Given the description of an element on the screen output the (x, y) to click on. 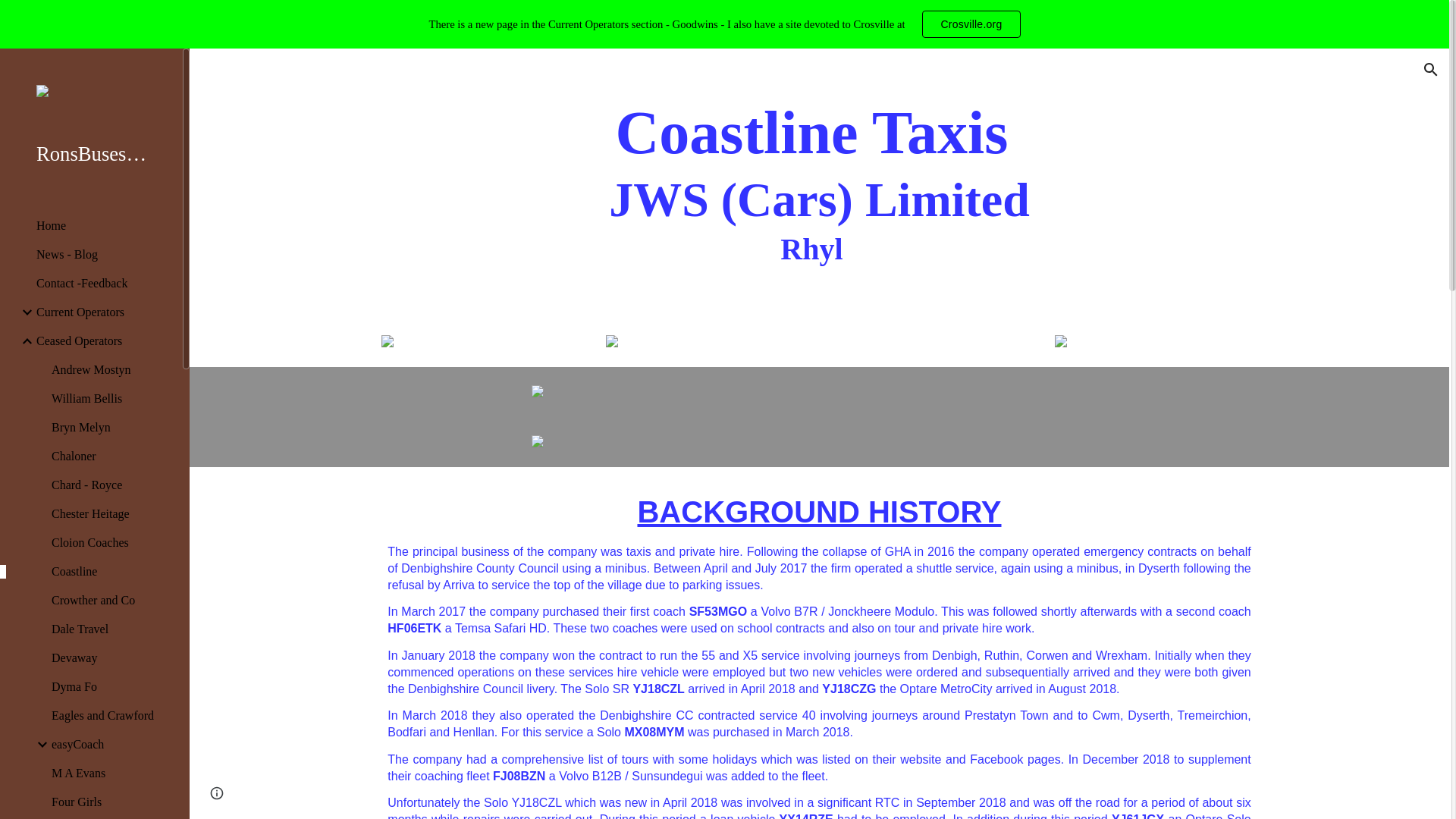
Andrew Mostyn (110, 369)
William Bellis (110, 398)
Current Operators (103, 312)
Chard - Royce (110, 485)
Bryn Melyn (110, 427)
RonsBusesAndCoaches (97, 153)
Crosville.org (971, 23)
News - Blog (103, 254)
Contact -Feedback (103, 283)
Ceased Operators (103, 341)
Crosville.org (970, 23)
Chaloner (110, 456)
Home (103, 225)
